Given the description of an element on the screen output the (x, y) to click on. 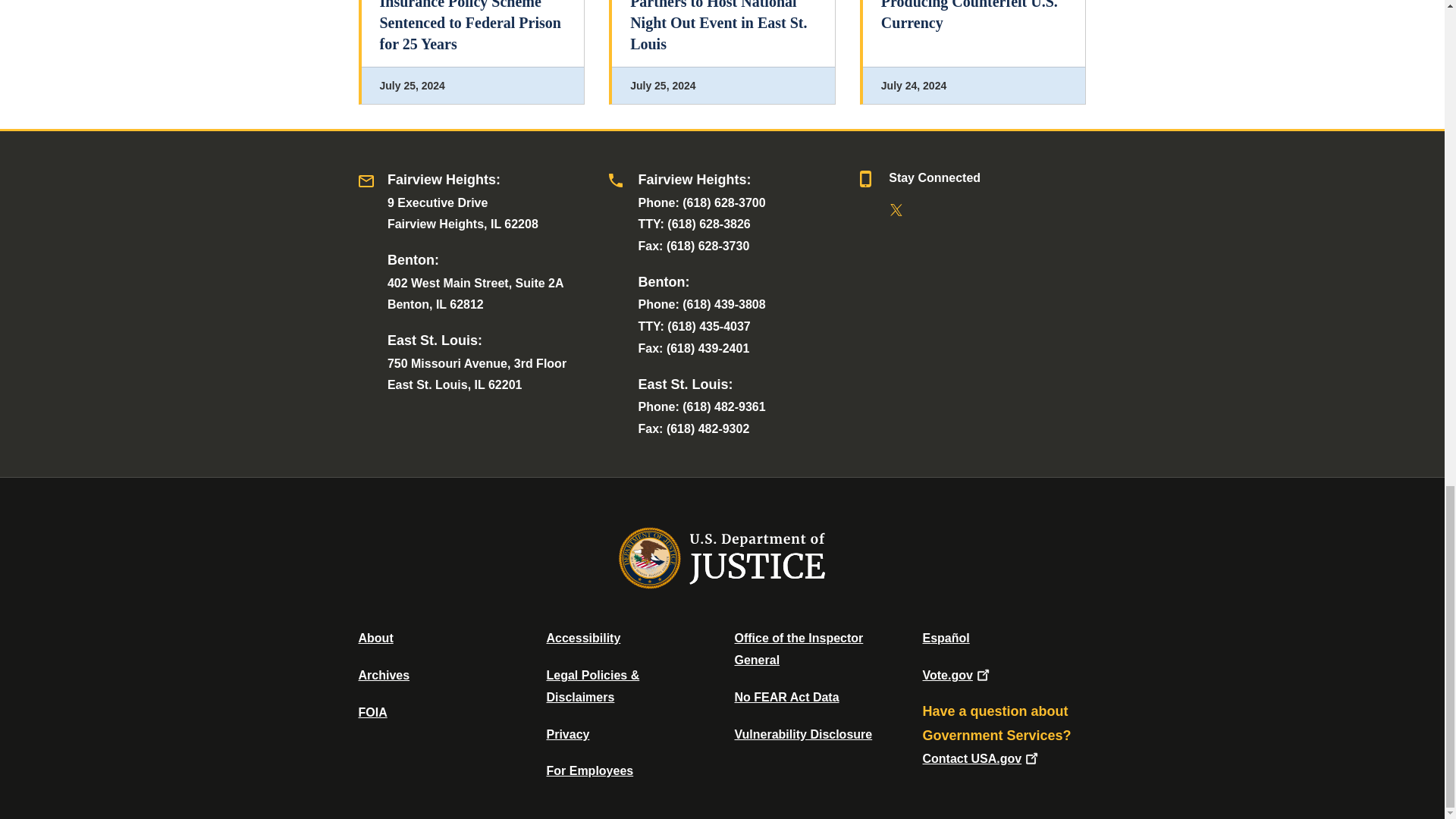
About DOJ (375, 637)
Data Posted Pursuant To The No Fear Act (785, 697)
Legal Policies and Disclaimers (592, 686)
Accessibility Statement (583, 637)
Department of Justice Archive (383, 675)
For Employees (589, 770)
Office of Information Policy (372, 712)
